Given the description of an element on the screen output the (x, y) to click on. 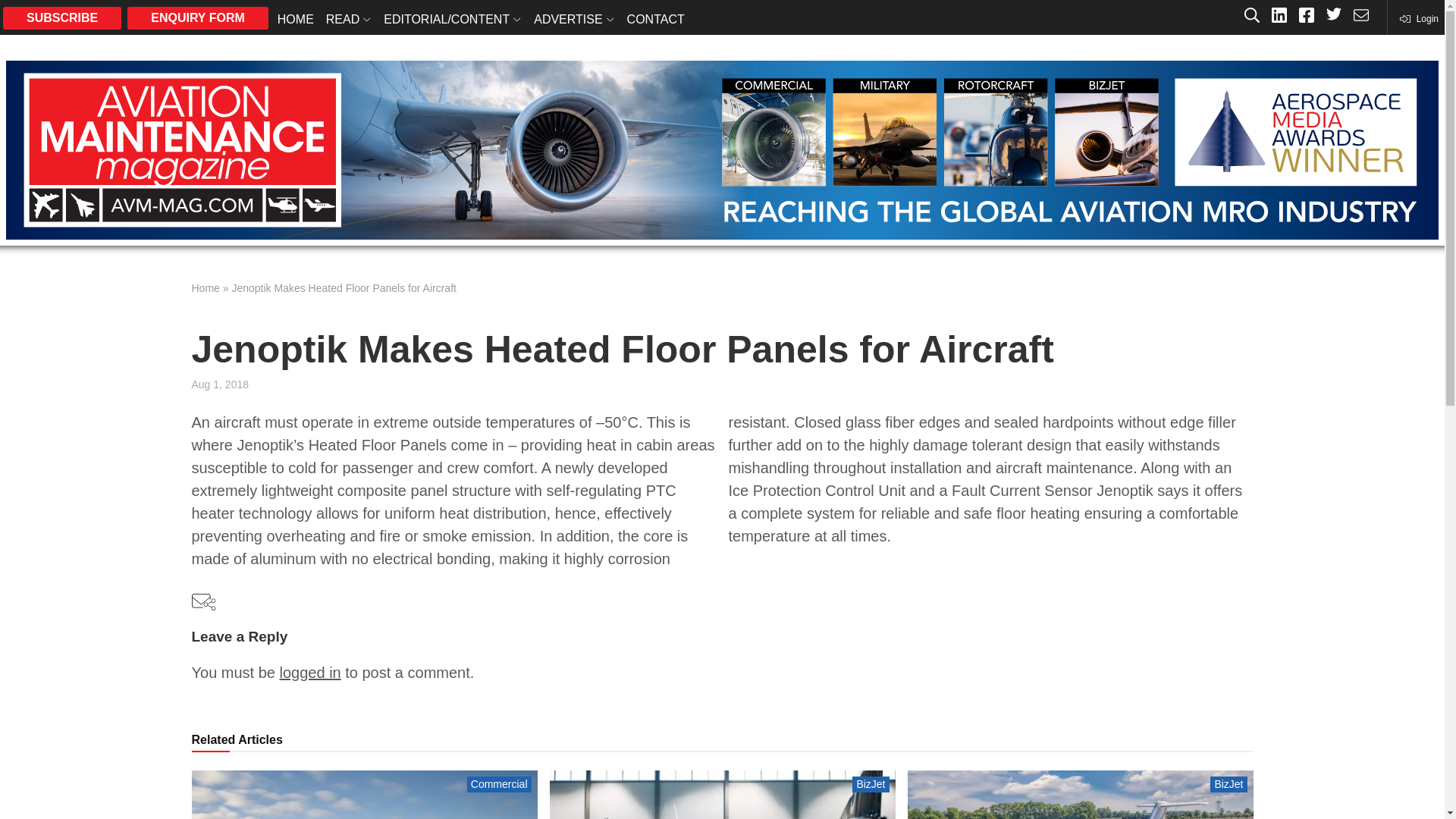
Share by Email (202, 602)
CONTACT (655, 18)
Commercial (499, 783)
login-icon (1418, 18)
SUBSCRIBE (61, 16)
HOME (295, 18)
Home (204, 287)
logged in (309, 672)
READ (348, 18)
Login (1418, 18)
Aviation Maintenance Magazine Email Address (1361, 17)
Aviation Maintenance Magazine Facebook Page (1306, 17)
ENQUIRY FORM (197, 16)
Aviation Maintenance Magazine LinkedIn Company Page (1279, 17)
Aviation Maintenance Magazine Twitter Page (1333, 17)
